Given the description of an element on the screen output the (x, y) to click on. 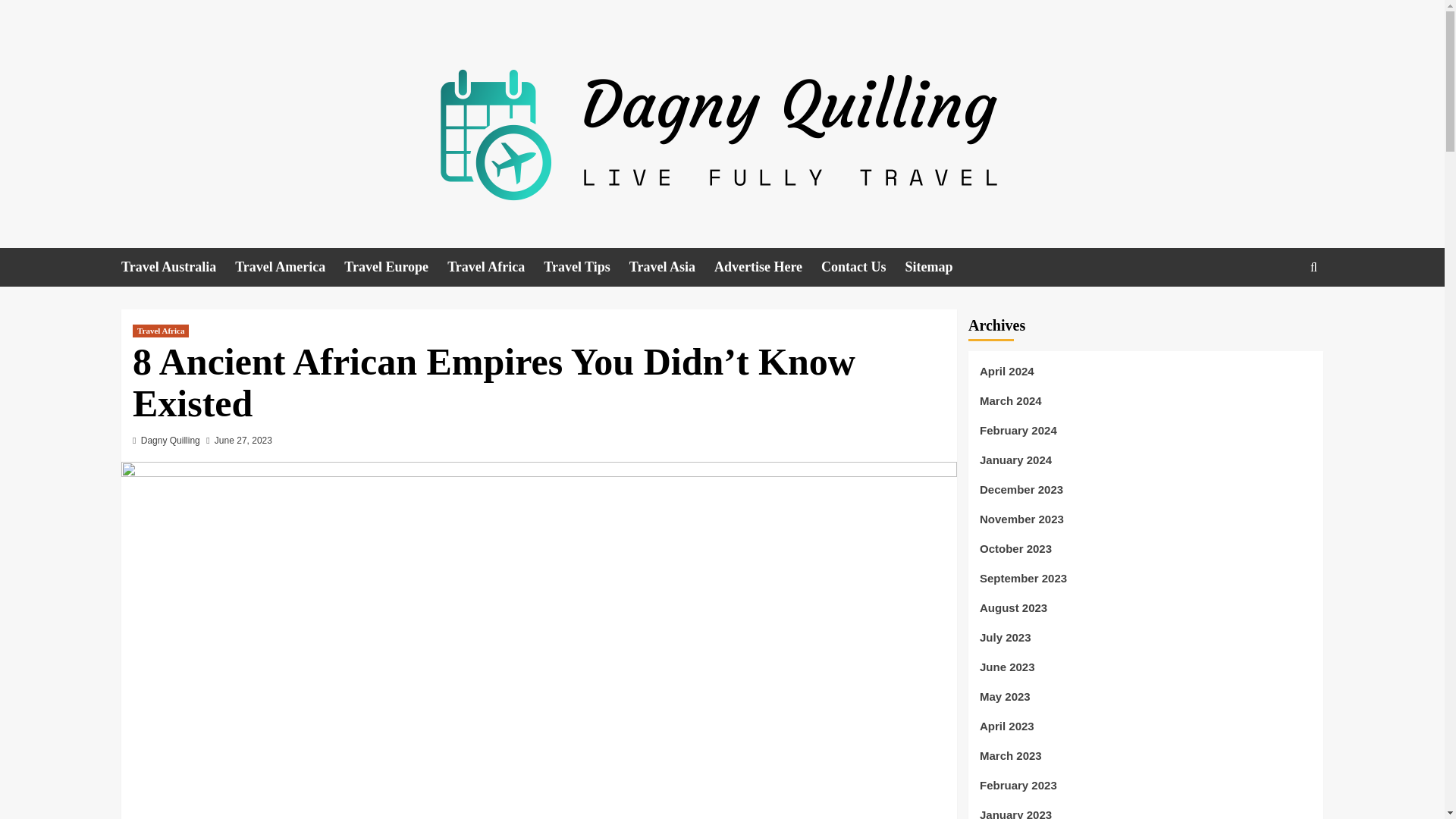
June 27, 2023 (243, 439)
Sitemap (938, 267)
Contact Us (863, 267)
Travel America (288, 267)
April 2024 (1145, 377)
Dagny Quilling (170, 439)
Travel Europe (394, 267)
Travel Africa (494, 267)
Travel Africa (160, 330)
Search (1278, 314)
